Given the description of an element on the screen output the (x, y) to click on. 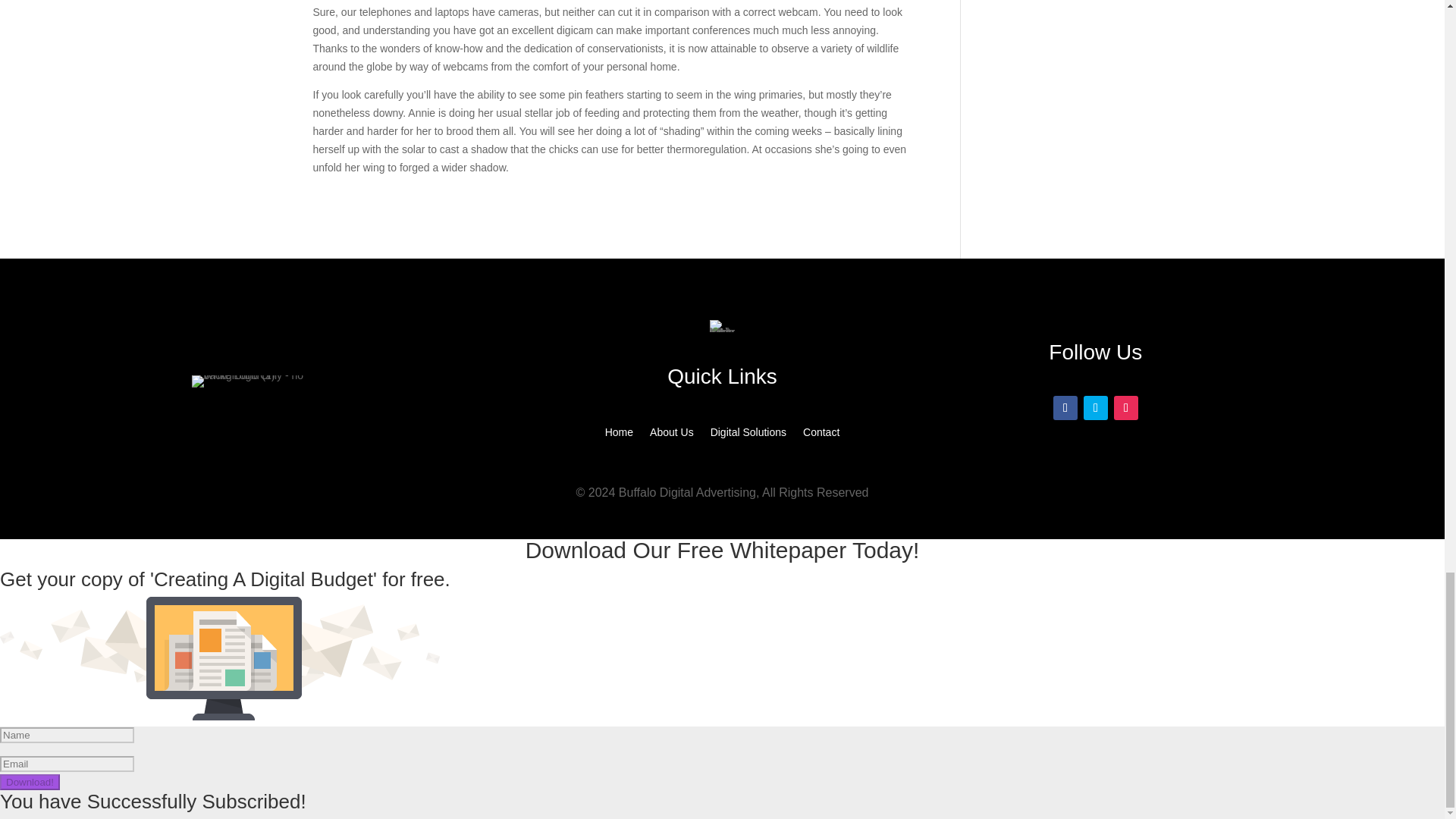
Download! (29, 781)
Follow on Instagram (1125, 407)
Follow on Twitter (1095, 407)
About Us (671, 434)
Contact (821, 434)
Follow on Facebook (1064, 407)
Home (619, 434)
Digital Solutions (748, 434)
